Given the description of an element on the screen output the (x, y) to click on. 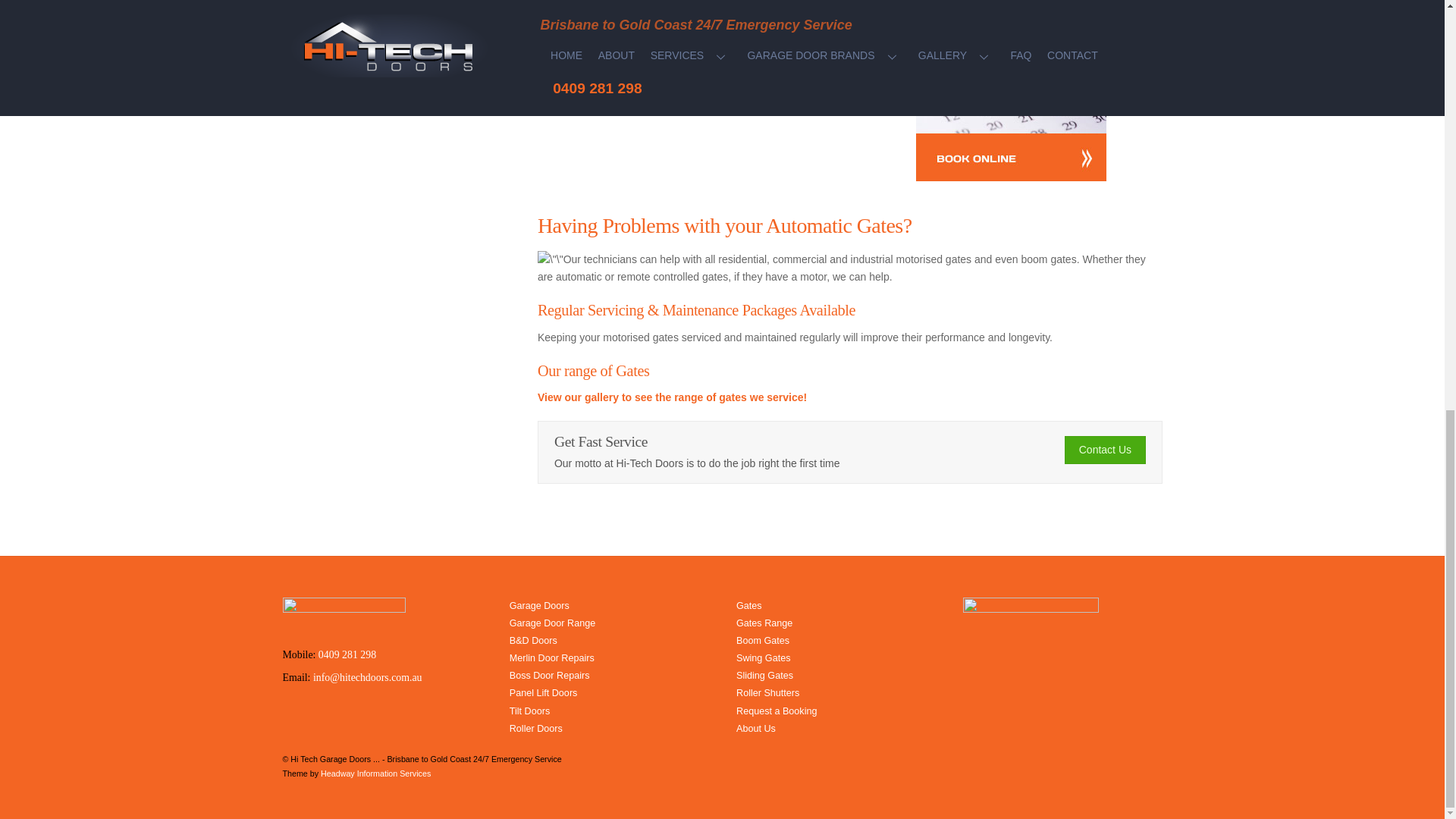
Garage Door Repair in Victoria Point (1010, 90)
